Given the description of an element on the screen output the (x, y) to click on. 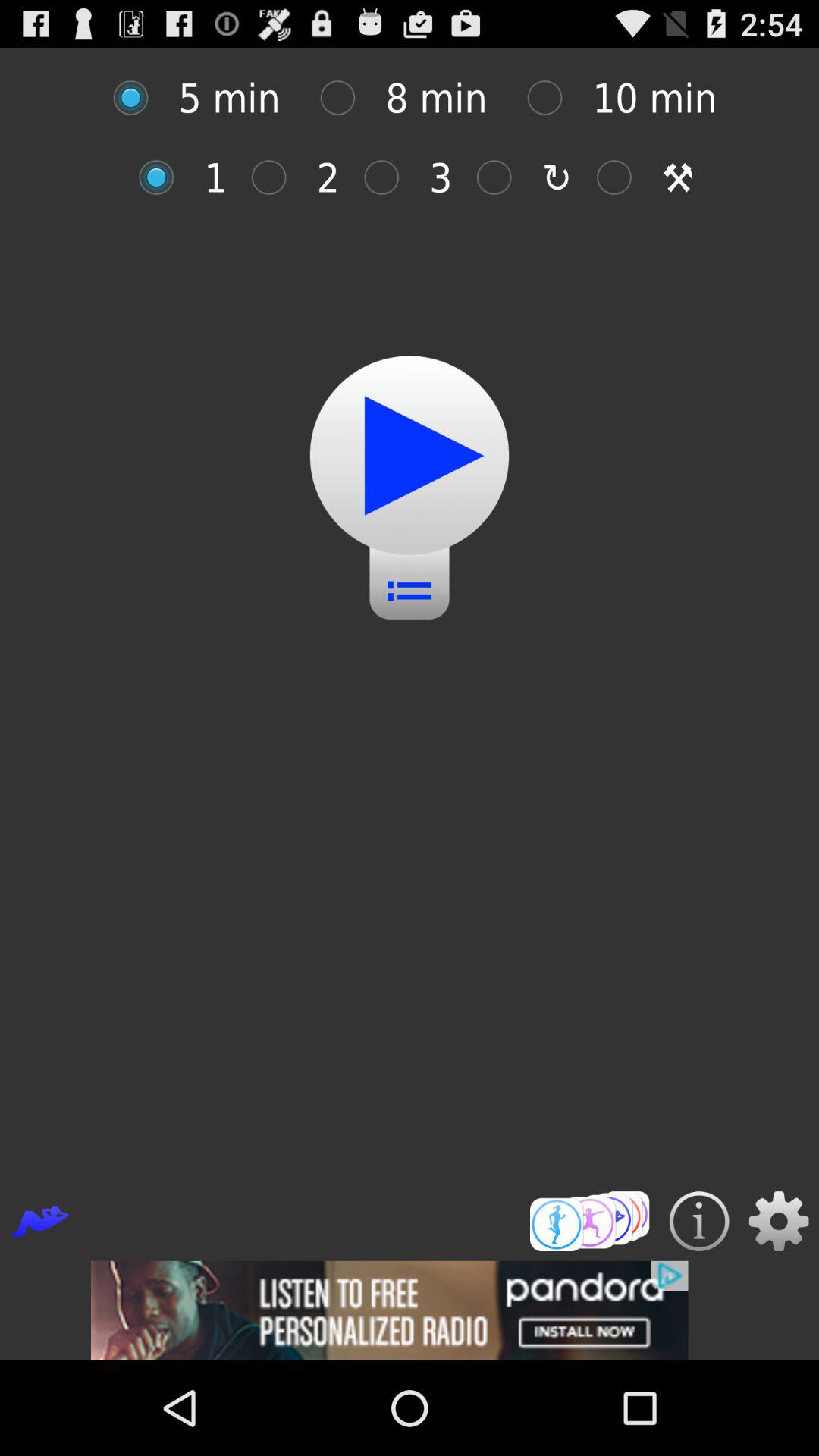
click the 3 option (389, 177)
